Given the description of an element on the screen output the (x, y) to click on. 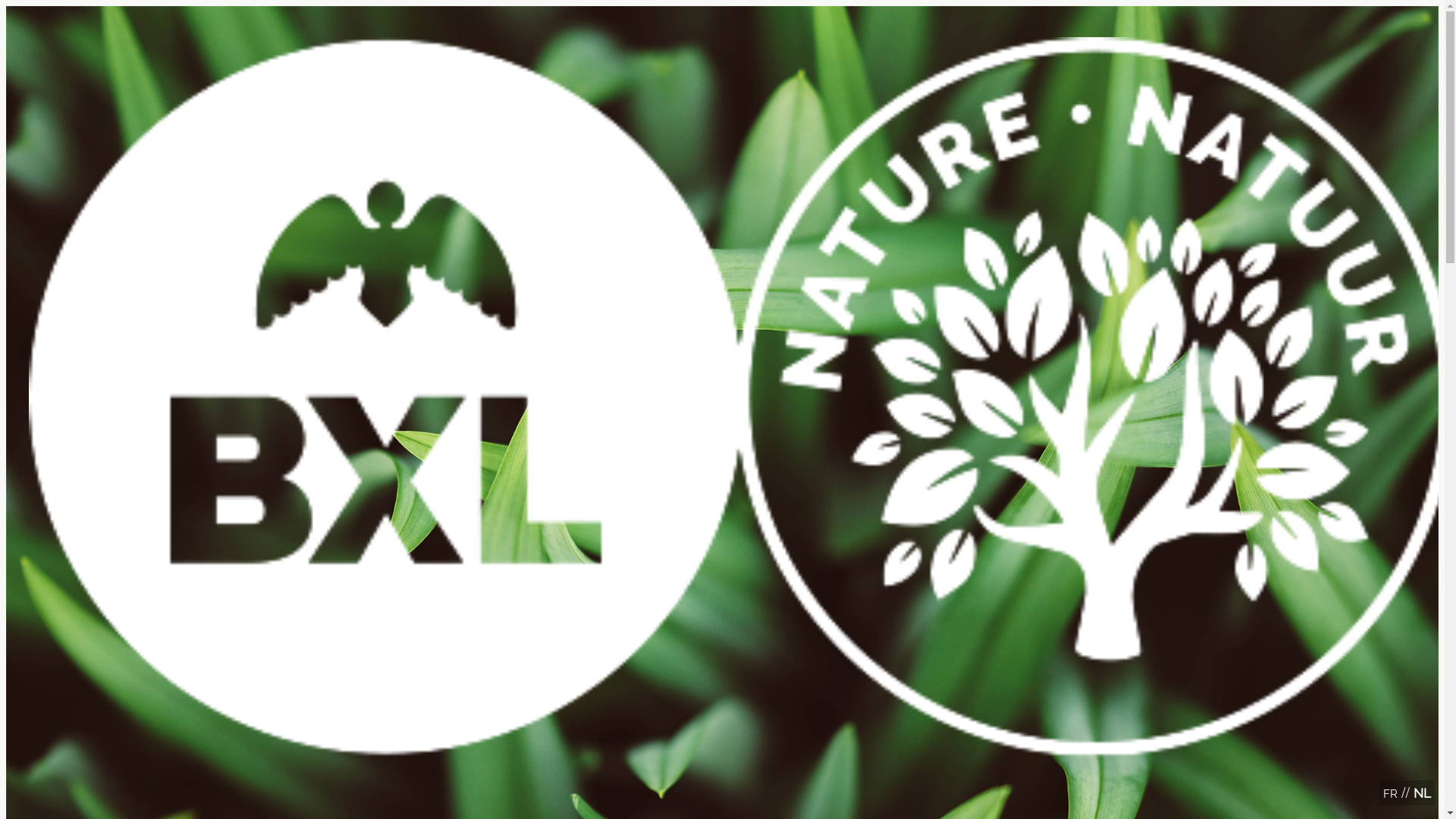
FR Element type: text (1390, 793)
Overslaan en naar de inhoud gaan Element type: text (722, 7)
NL Element type: text (1421, 792)
